Given the description of an element on the screen output the (x, y) to click on. 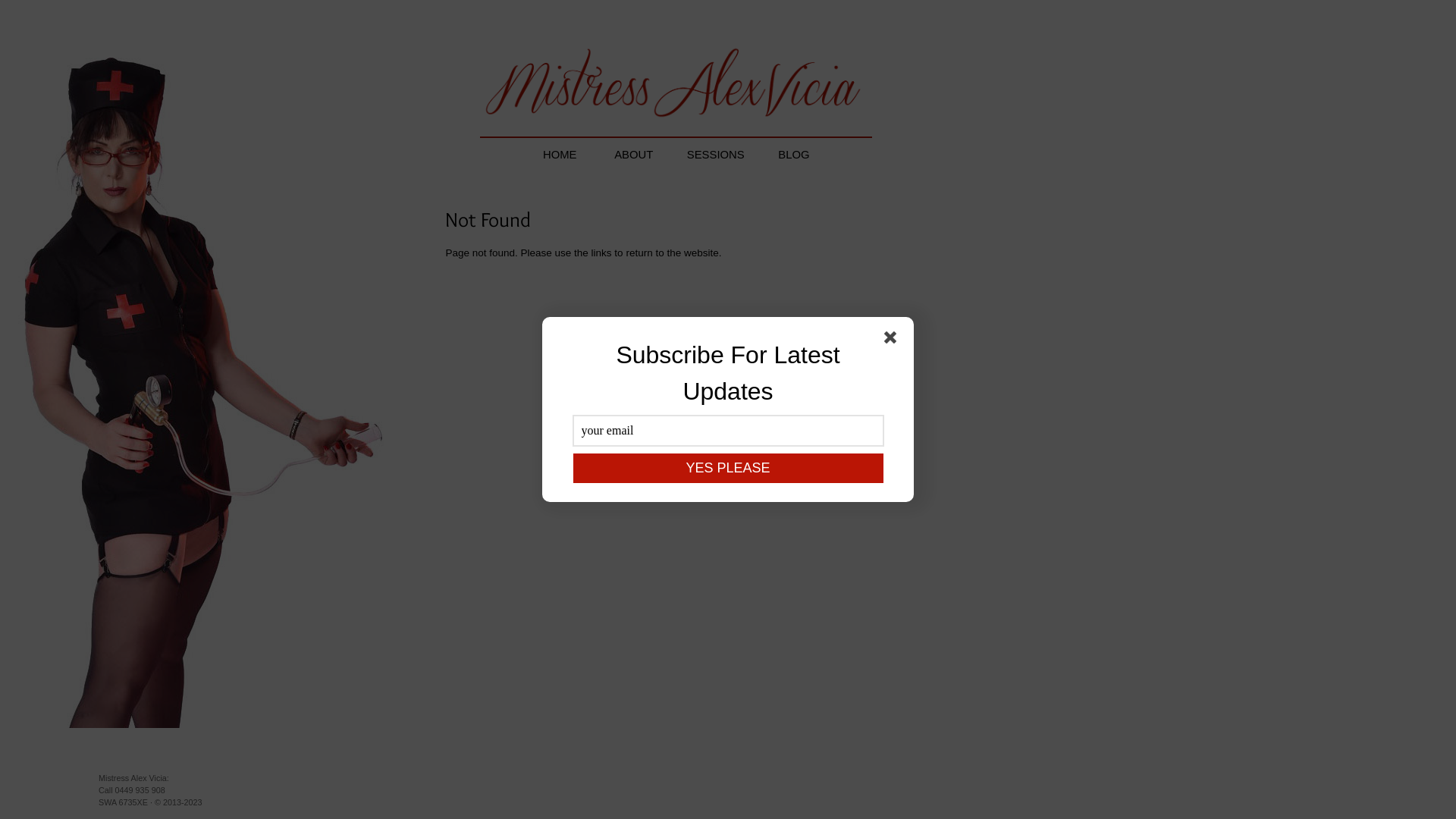
ABOUT Element type: text (638, 154)
Yes Please Element type: text (728, 468)
BLOG Element type: text (793, 154)
Take Action Now! Element type: text (183, 14)
SESSIONS Element type: text (720, 154)
HOME Element type: text (559, 154)
Close optin form Element type: hover (893, 340)
